Given the description of an element on the screen output the (x, y) to click on. 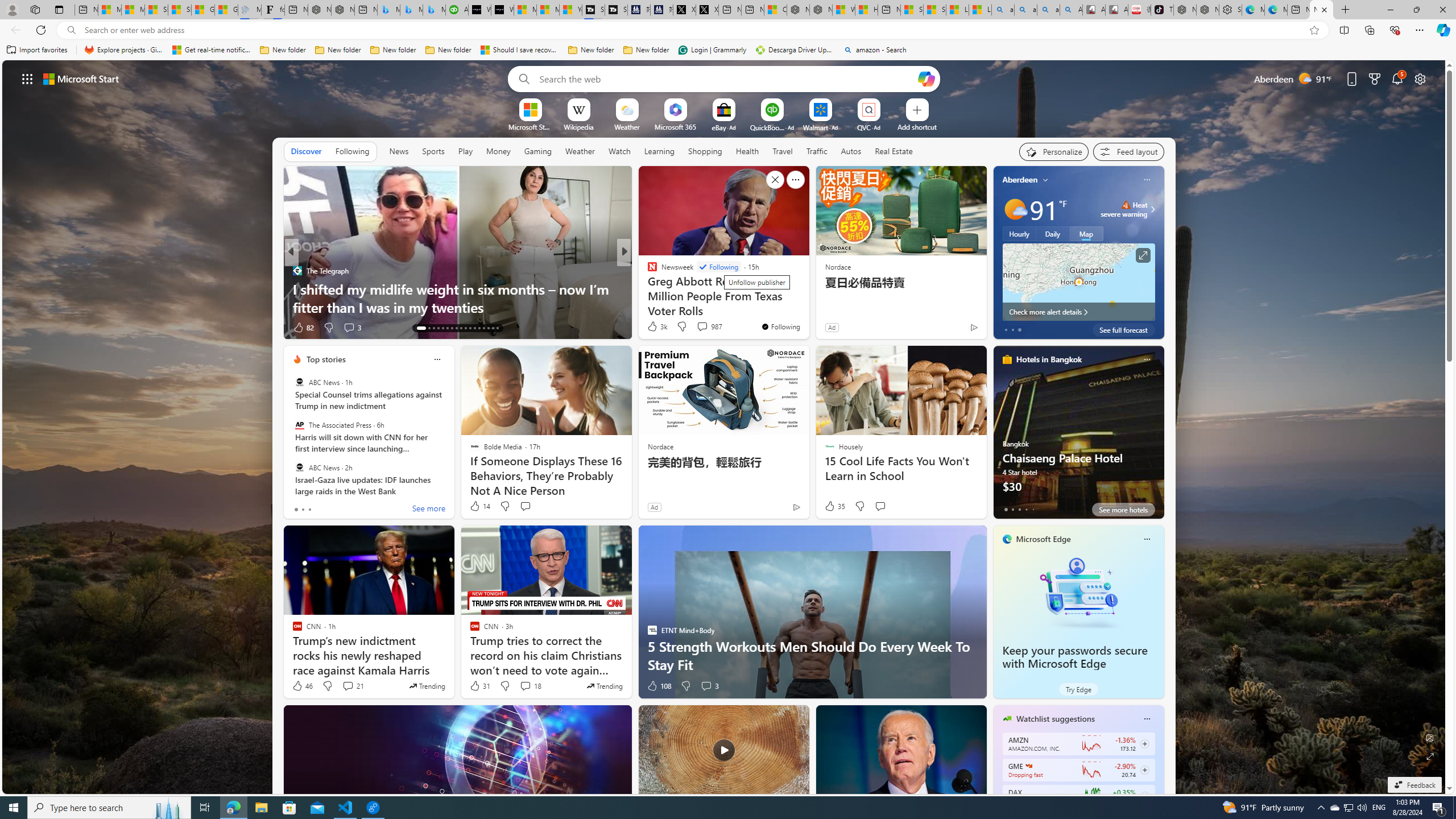
Class: control (27, 78)
Personalize your feed" (1054, 151)
Microsoft start (81, 78)
46 Like (301, 685)
Shopping (705, 151)
55 Like (652, 327)
AutomationID: tab-20 (456, 328)
TikTok (1161, 9)
